Given the description of an element on the screen output the (x, y) to click on. 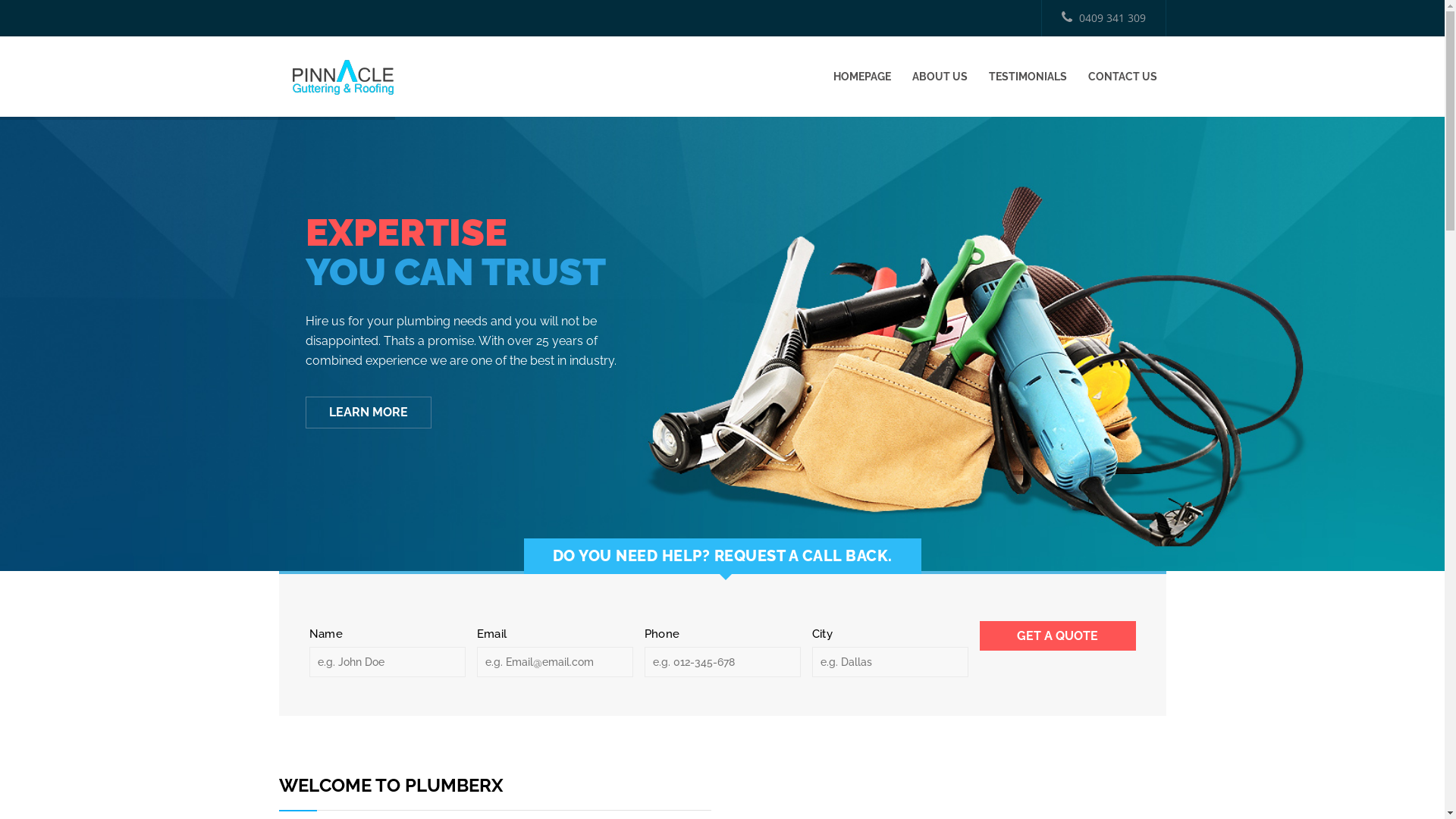
HOMEPAGE Element type: text (861, 76)
ABOUT US Element type: text (938, 76)
Melbourne, Australia Element type: hover (343, 76)
Get A Quote Element type: text (1057, 635)
CONTACT US Element type: text (1121, 76)
TESTIMONIALS Element type: text (1027, 76)
0409 341 309 Element type: text (1102, 18)
